Given the description of an element on the screen output the (x, y) to click on. 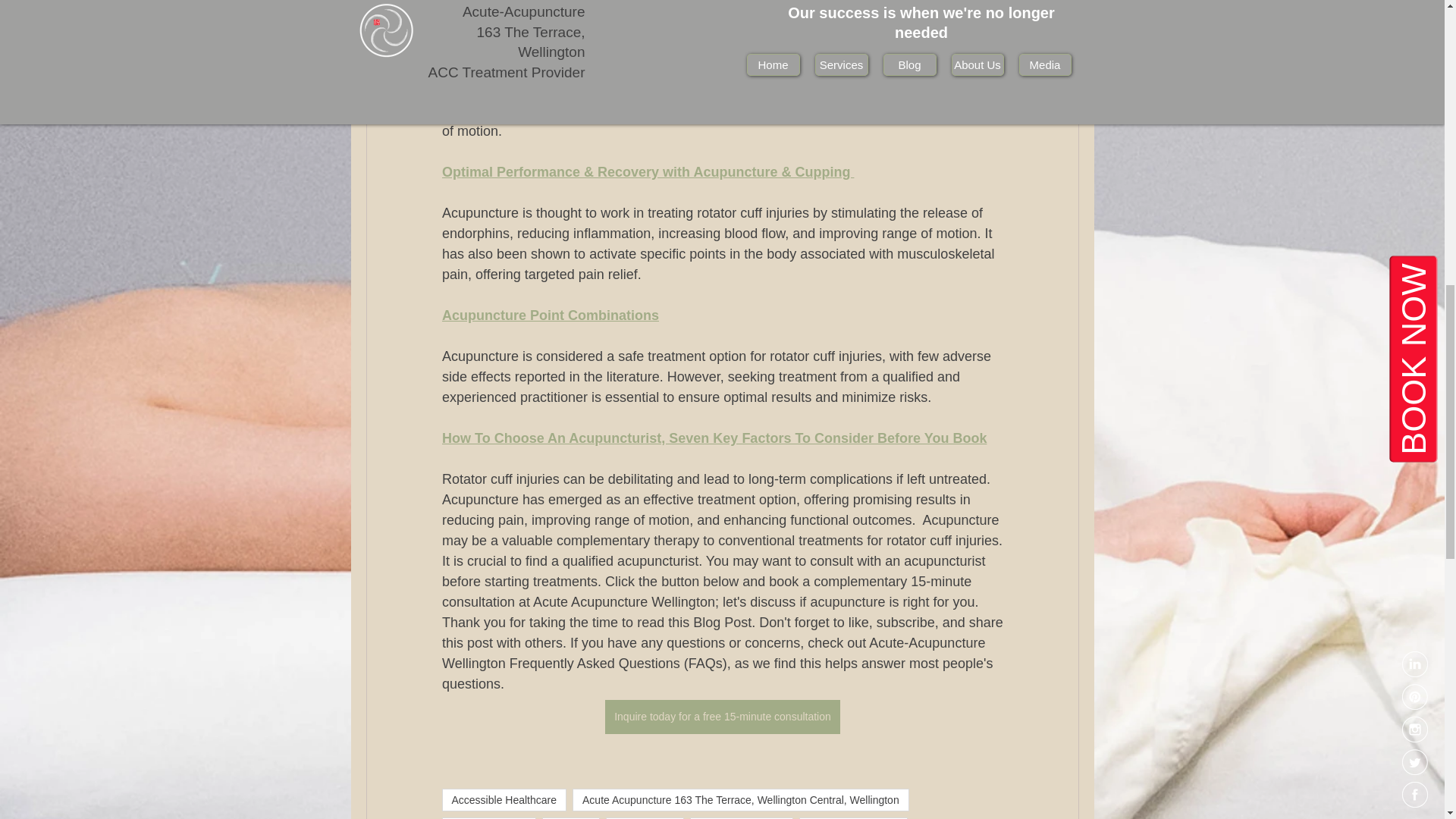
Inquire today for a free 15-minute consultation (722, 716)
Acupuncture Point Combinations (549, 314)
